Given the description of an element on the screen output the (x, y) to click on. 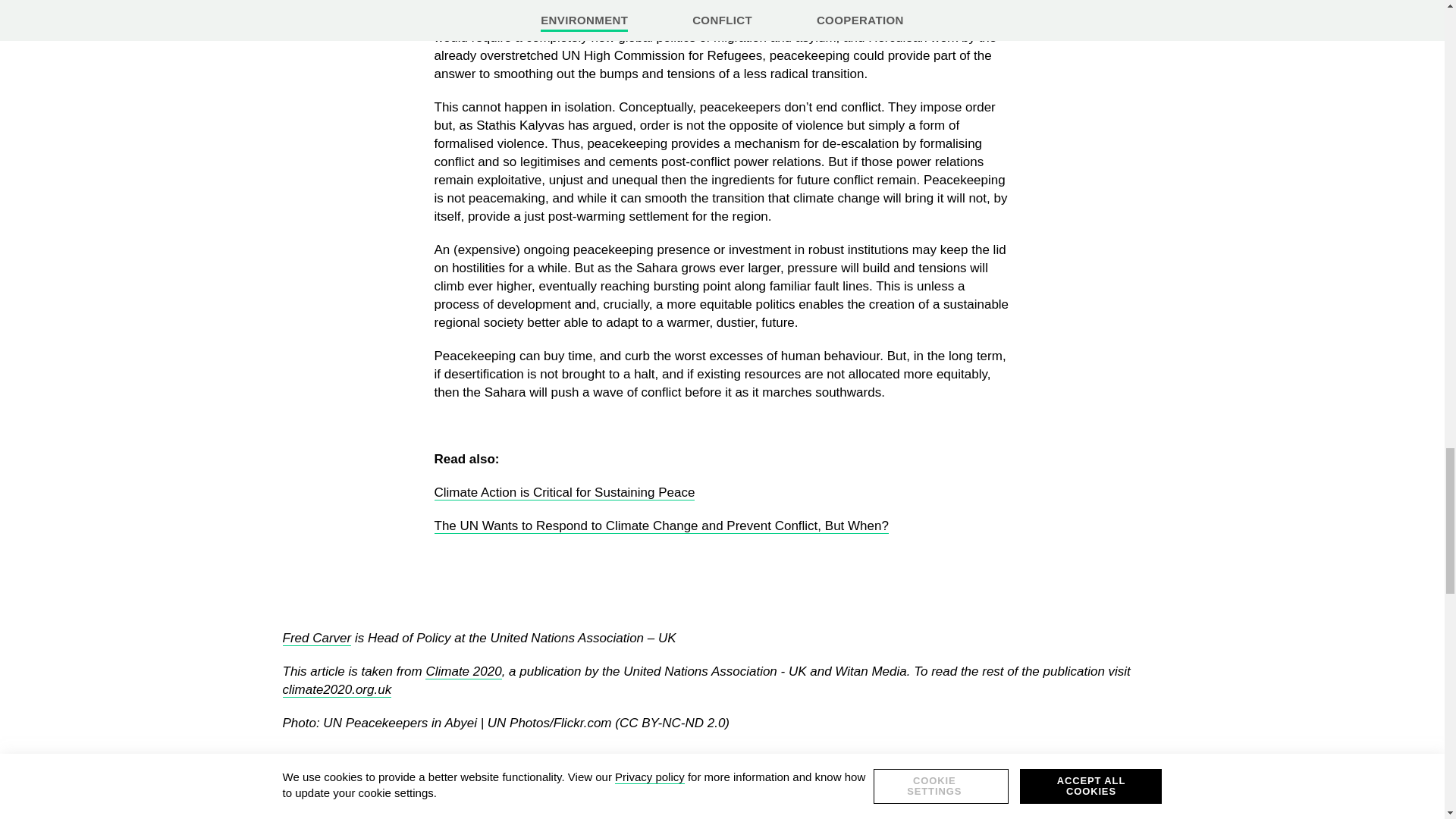
climate2020.org.uk (336, 689)
Fred Carver (316, 638)
Climate 2020 (462, 671)
Climate Action is Critical for Sustaining Peace (563, 492)
